Given the description of an element on the screen output the (x, y) to click on. 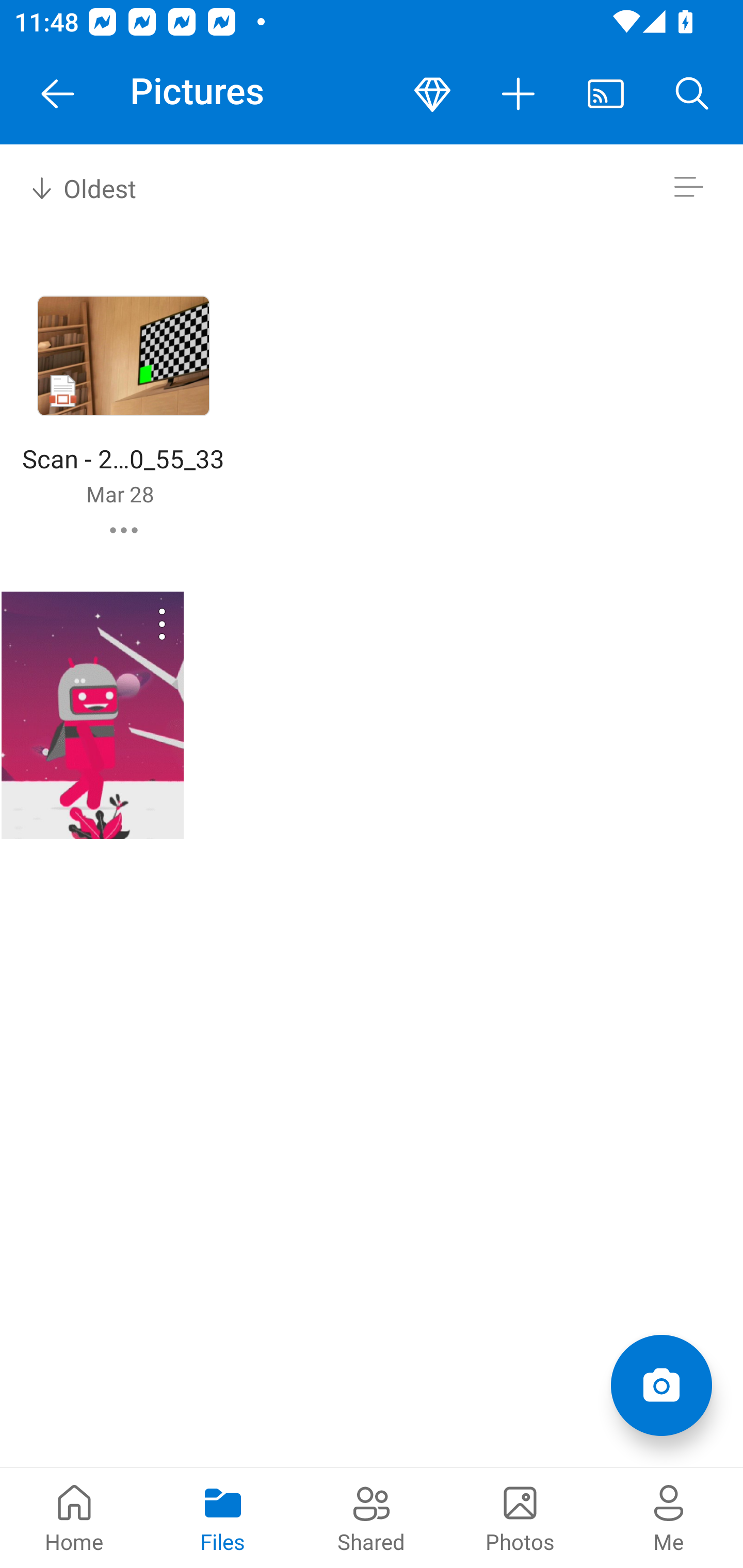
Navigate Up (57, 93)
Cast. Disconnected (605, 93)
Premium button (432, 93)
More actions button (518, 93)
Search button (692, 93)
Oldest Sort by combo box, sort by oldest (80, 187)
Switch to list view (688, 187)
Mar 28 (120, 493)
Scan - 2024-03-28 10_55_33 commands (123, 529)
Document Test_IMG Test_IMG commands (92, 714)
Test_IMG commands (136, 623)
Add items Scan (660, 1385)
Home pivot Home (74, 1517)
Shared pivot Shared (371, 1517)
Photos pivot Photos (519, 1517)
Me pivot Me (668, 1517)
